Given the description of an element on the screen output the (x, y) to click on. 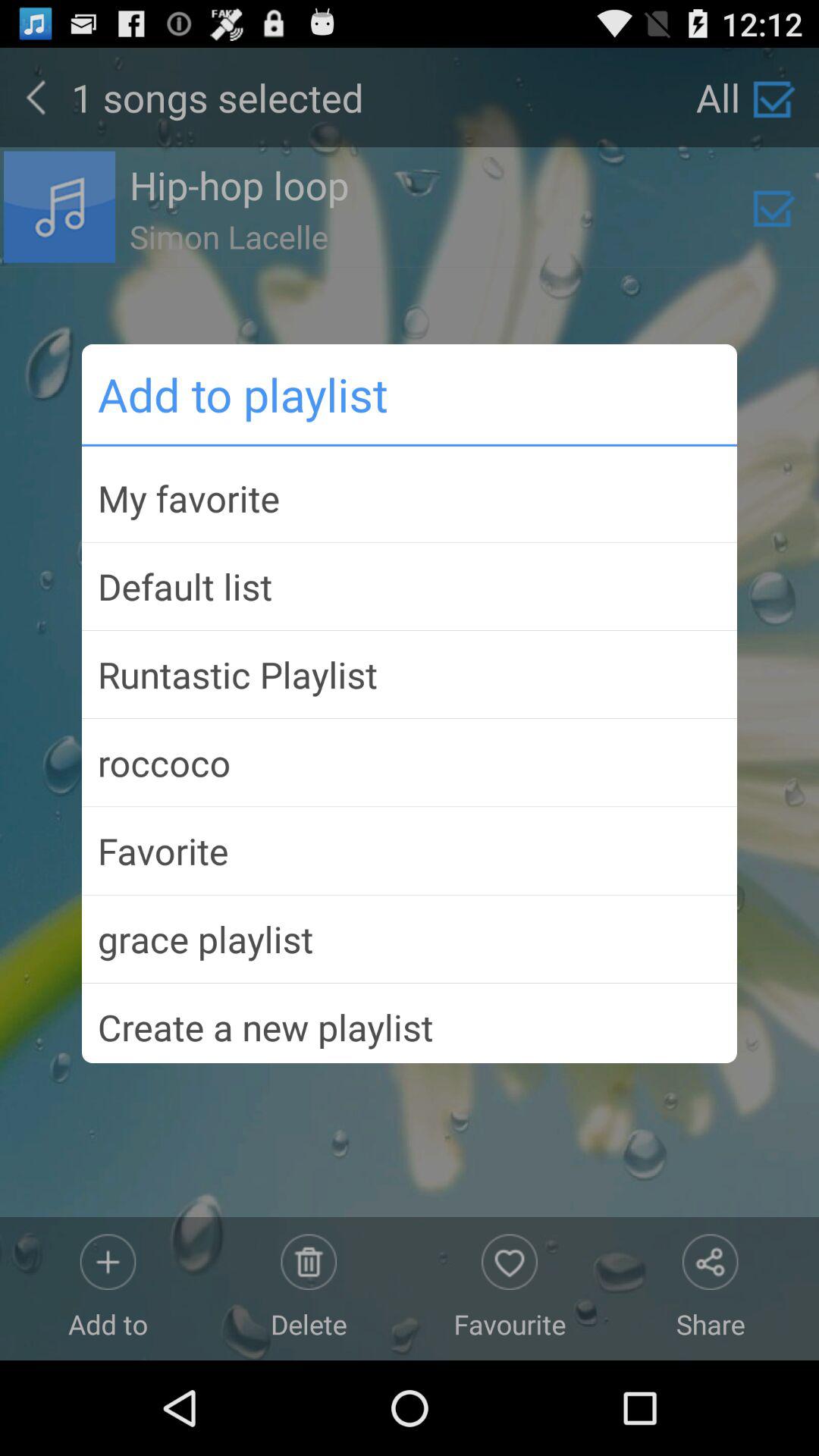
press the icon above the runtastic playlist (409, 586)
